Given the description of an element on the screen output the (x, y) to click on. 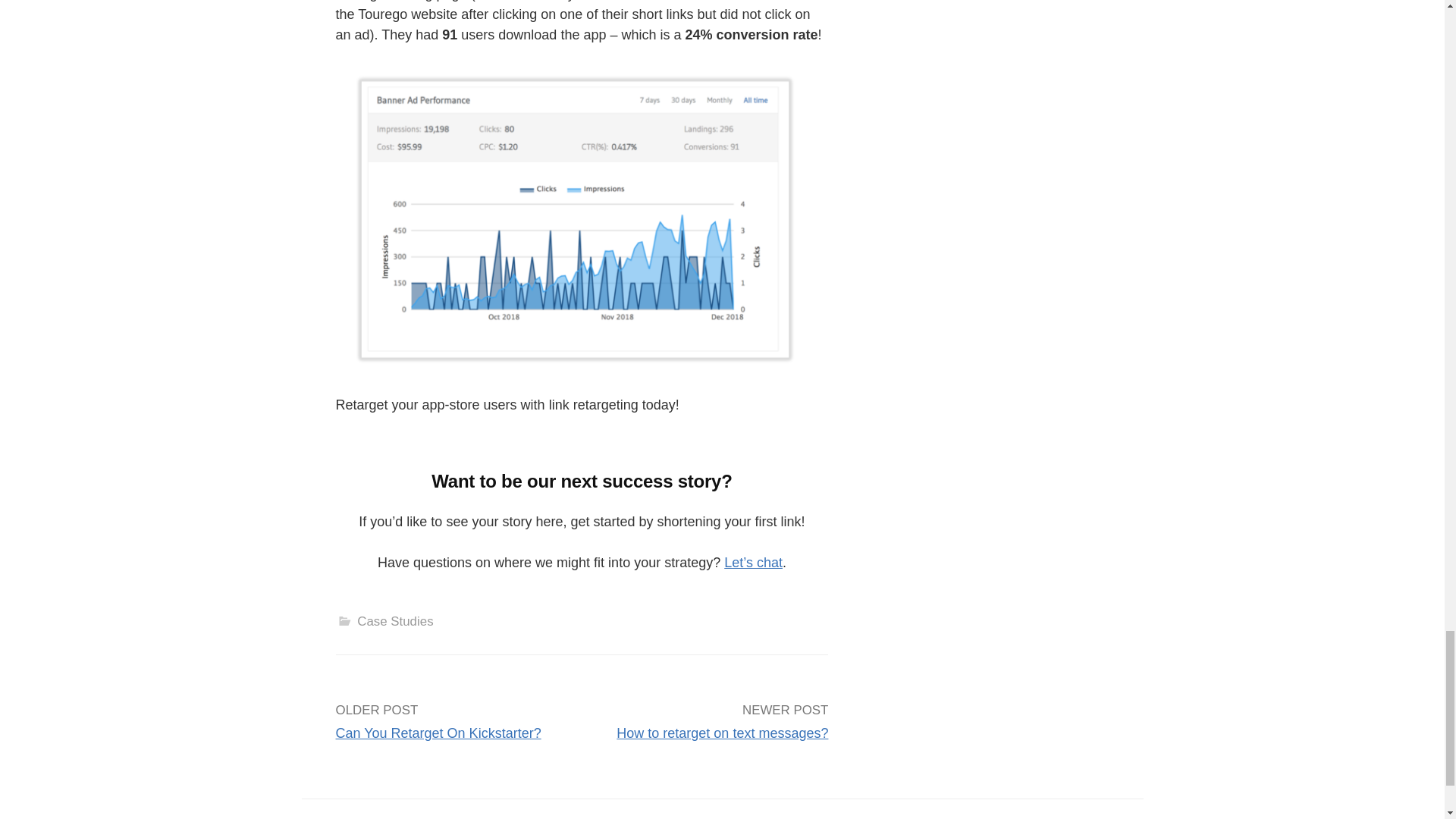
Can You Retarget On Kickstarter? (437, 733)
How to retarget on text messages? (721, 733)
Case Studies (394, 621)
